Given the description of an element on the screen output the (x, y) to click on. 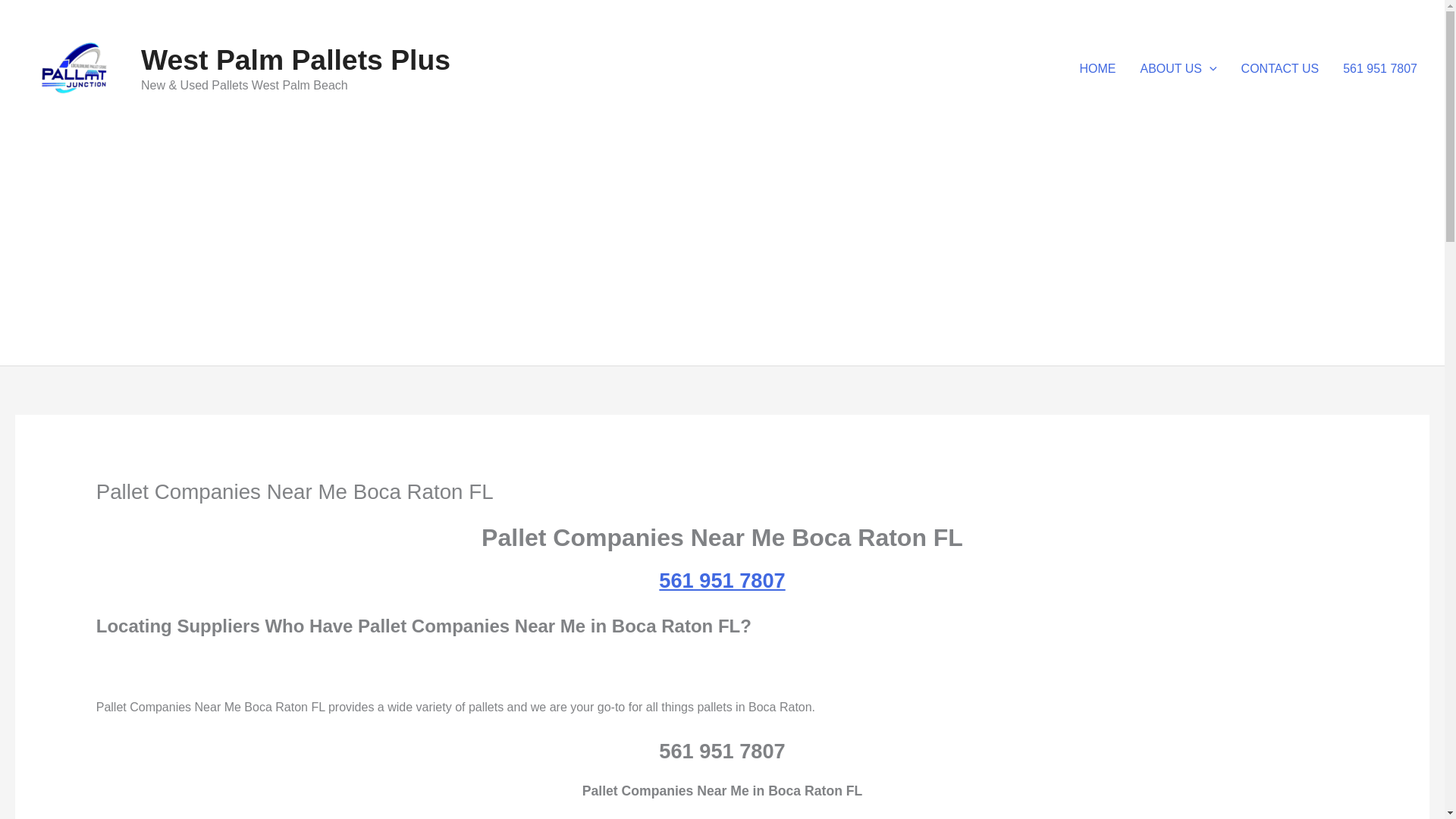
CONTACT US (1280, 68)
HOME (1097, 68)
ABOUT US (1178, 68)
561 951 7807 (1379, 68)
West Palm Pallets Plus (295, 60)
